Given the description of an element on the screen output the (x, y) to click on. 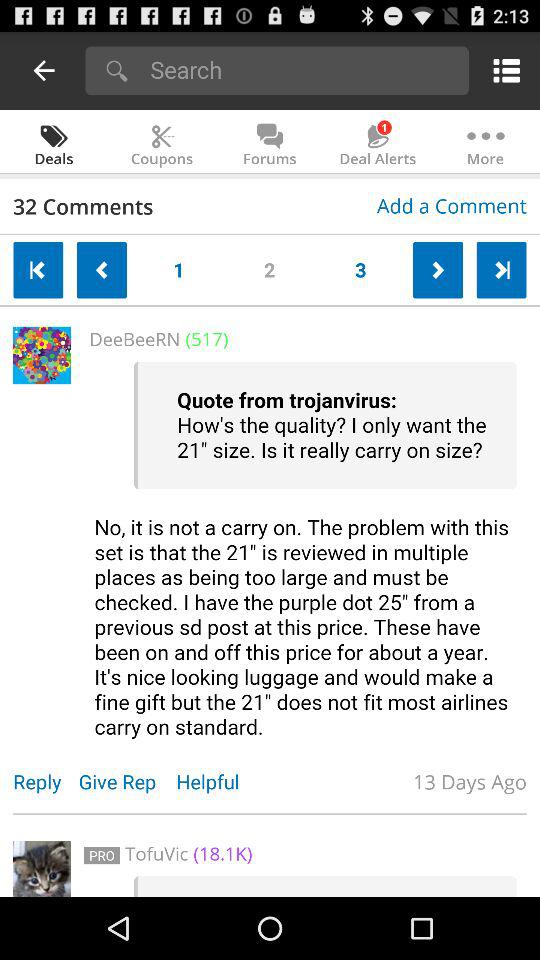
go to previous (38, 270)
